Given the description of an element on the screen output the (x, y) to click on. 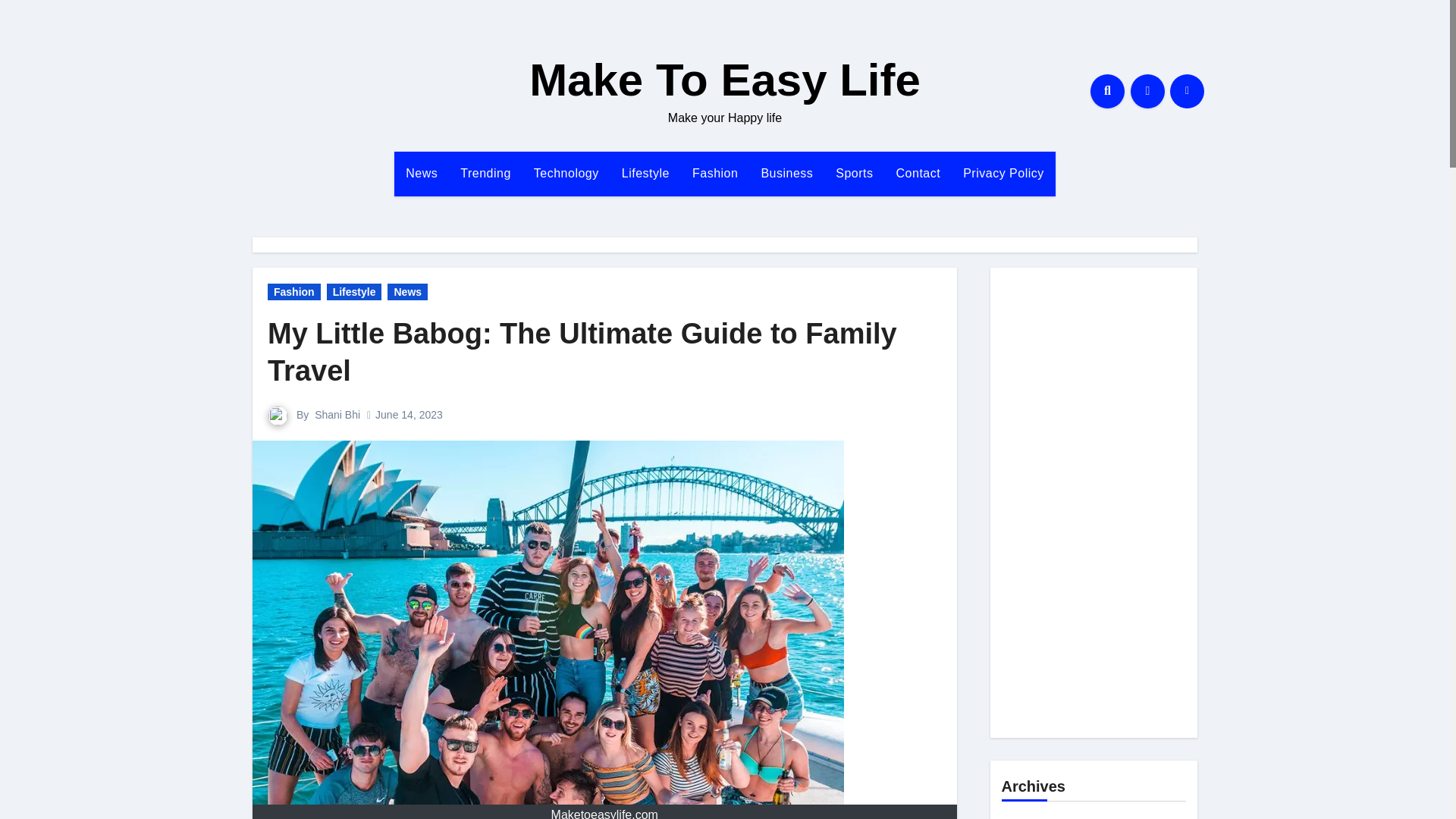
Make To Easy Life (724, 79)
Business (786, 173)
News (421, 173)
Privacy Policy (1003, 173)
Fashion (715, 173)
Fashion (715, 173)
Contact (918, 173)
Business (786, 173)
Lifestyle (645, 173)
